Given the description of an element on the screen output the (x, y) to click on. 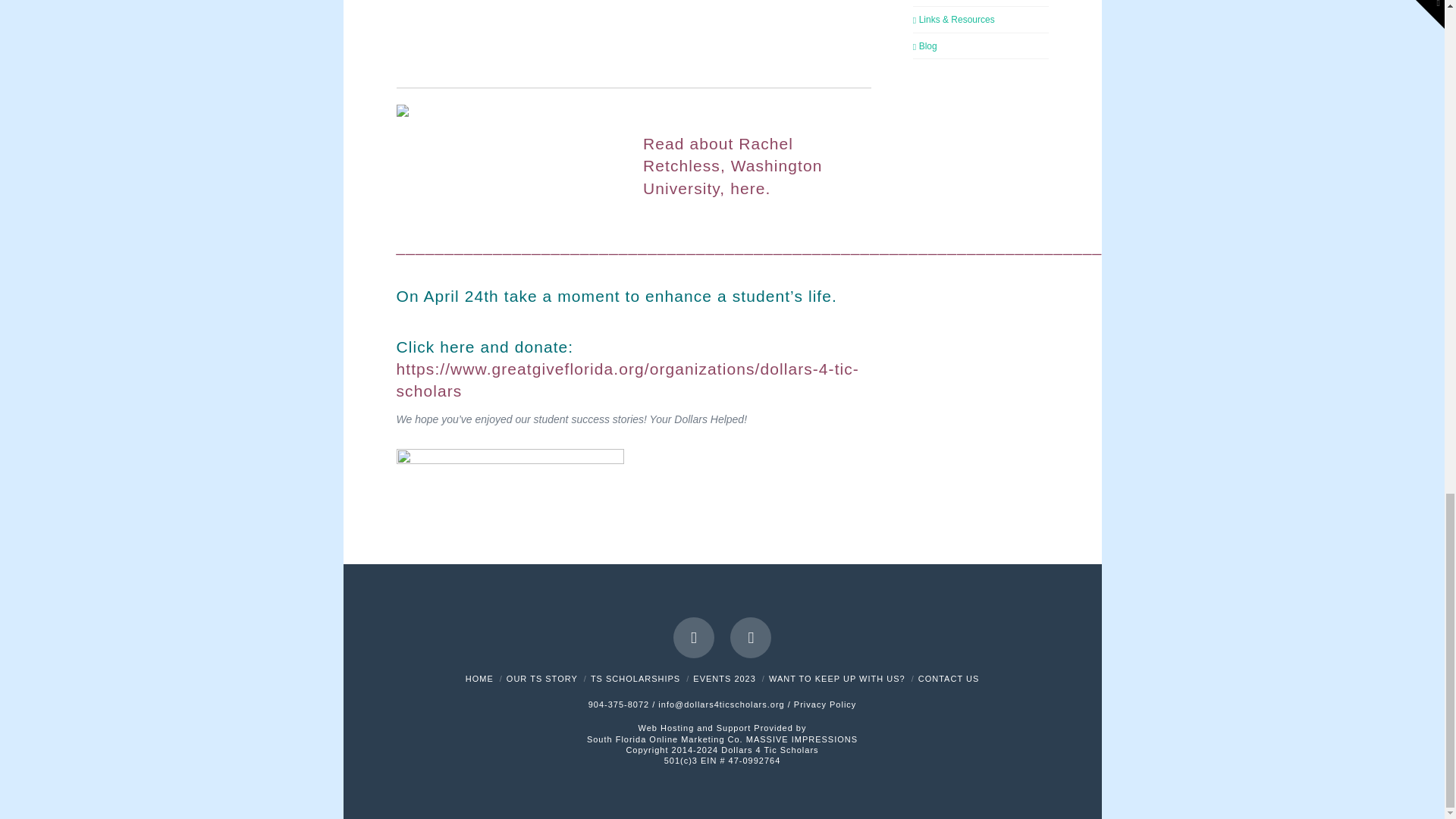
Instagram (750, 637)
Facebook (693, 637)
